Given the description of an element on the screen output the (x, y) to click on. 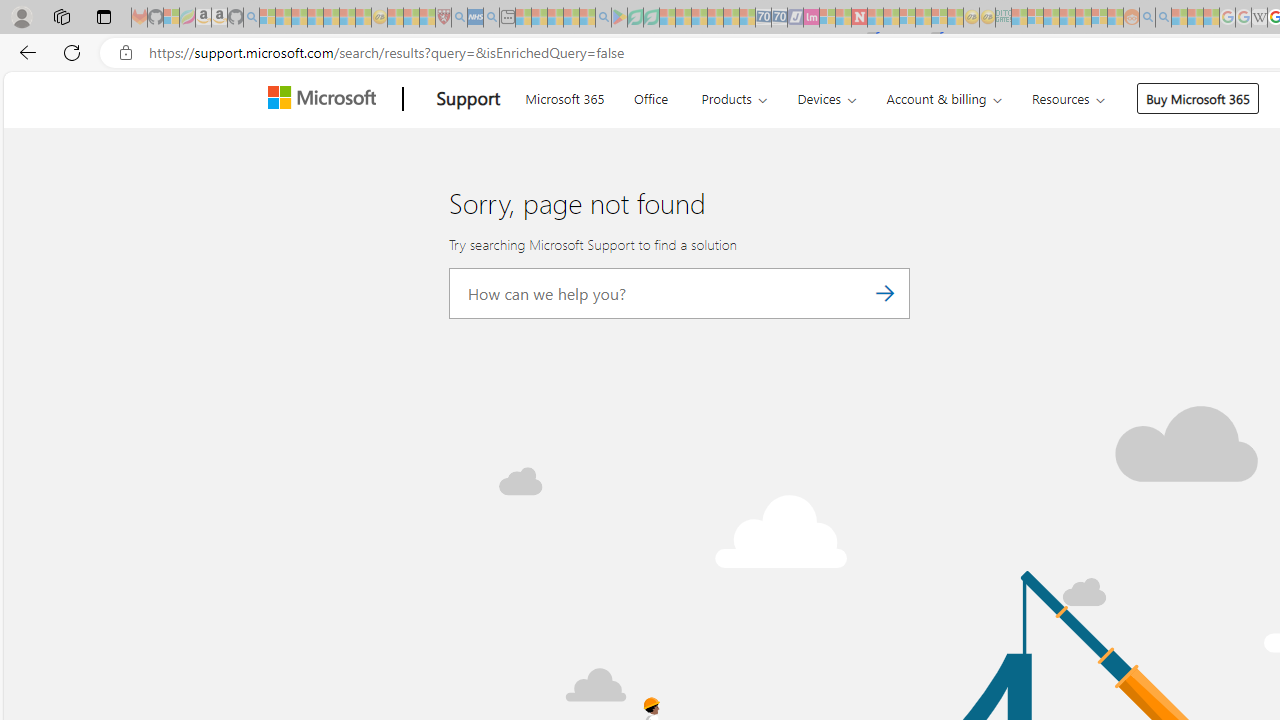
New Report Confirms 2023 Was Record Hot | Watch - Sleeping (331, 17)
DITOGAMES AG Imprint - Sleeping (1003, 17)
